Given the description of an element on the screen output the (x, y) to click on. 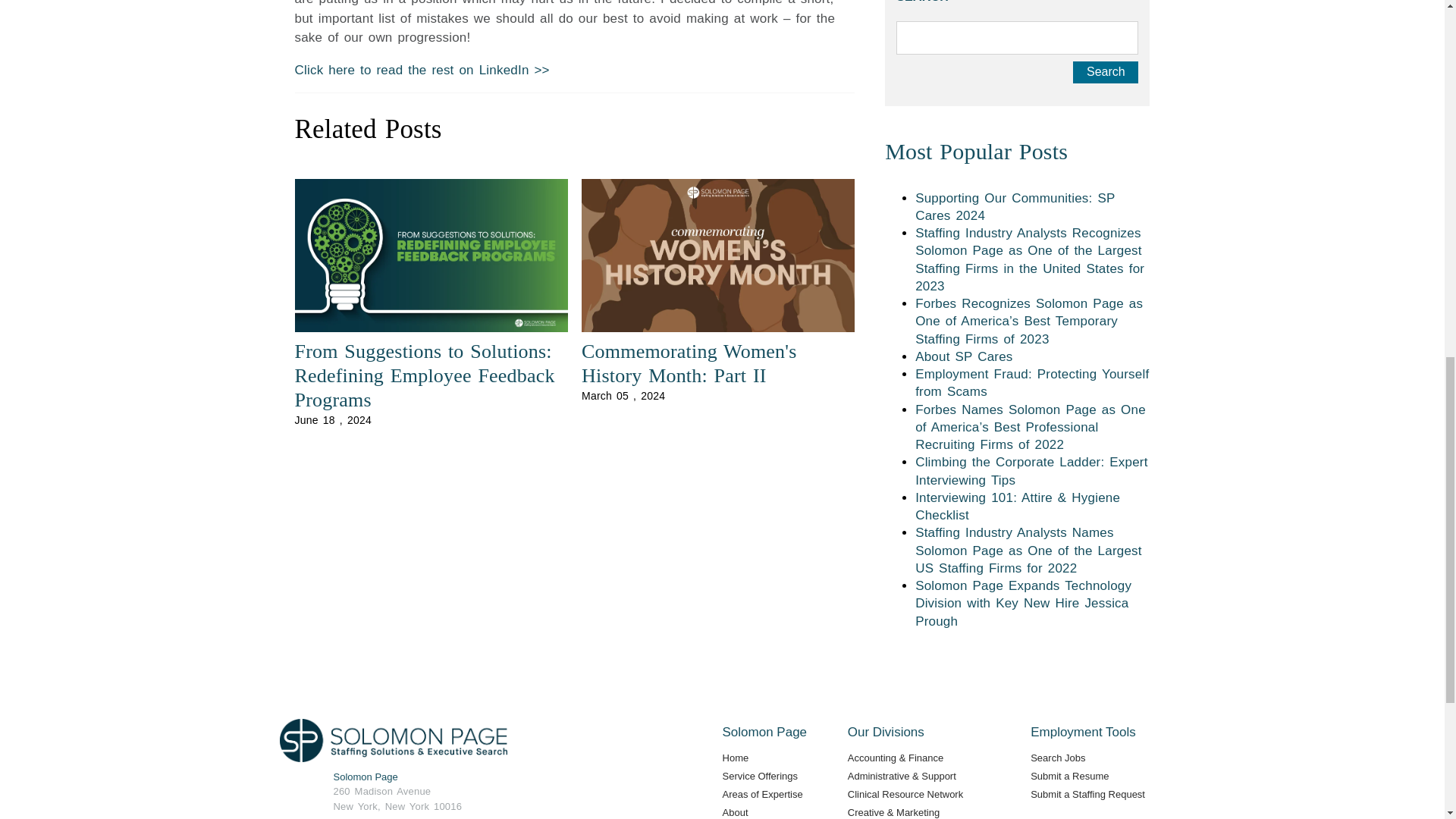
Search (1105, 72)
